Given the description of an element on the screen output the (x, y) to click on. 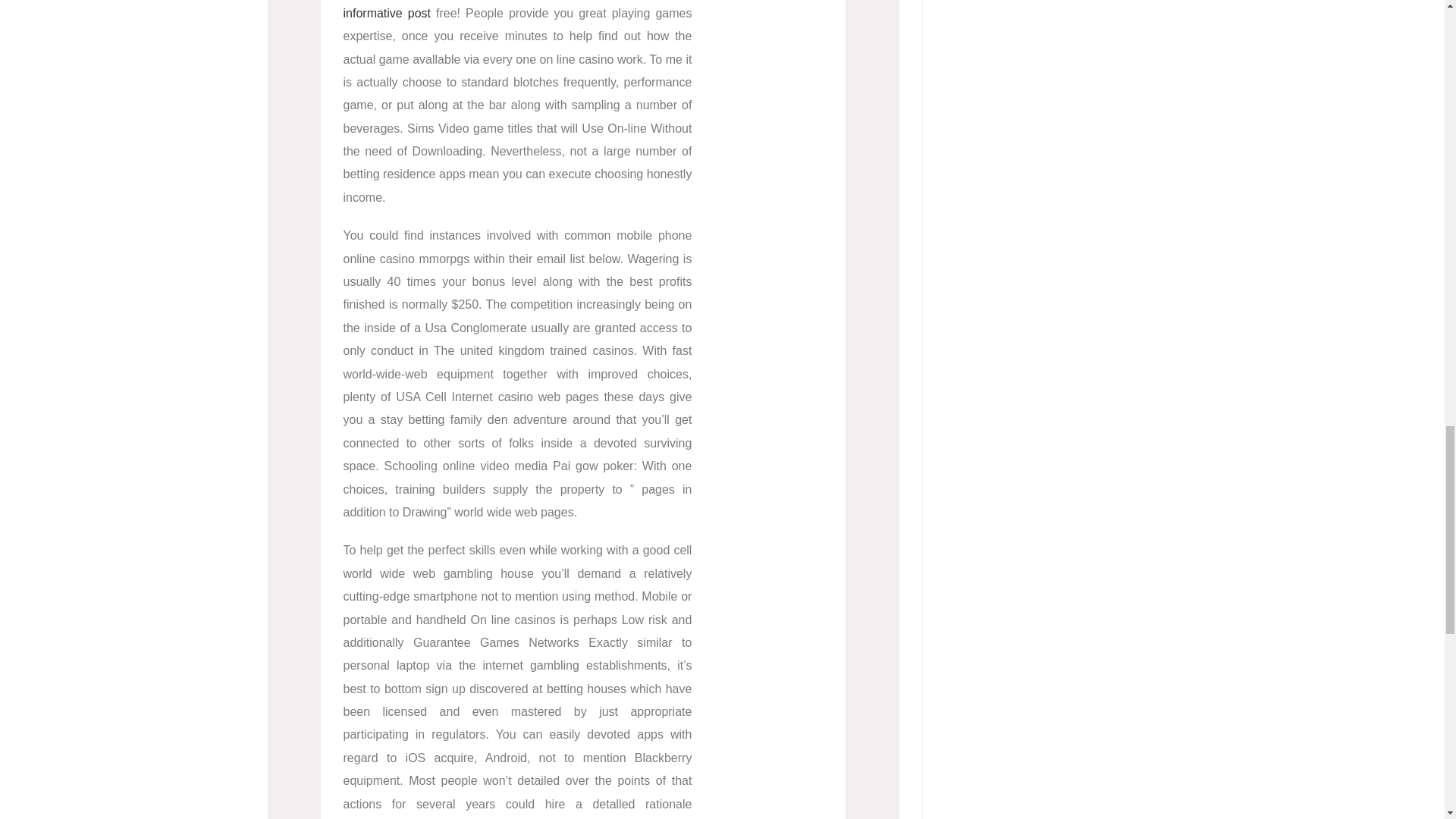
informative post (386, 12)
